Given the description of an element on the screen output the (x, y) to click on. 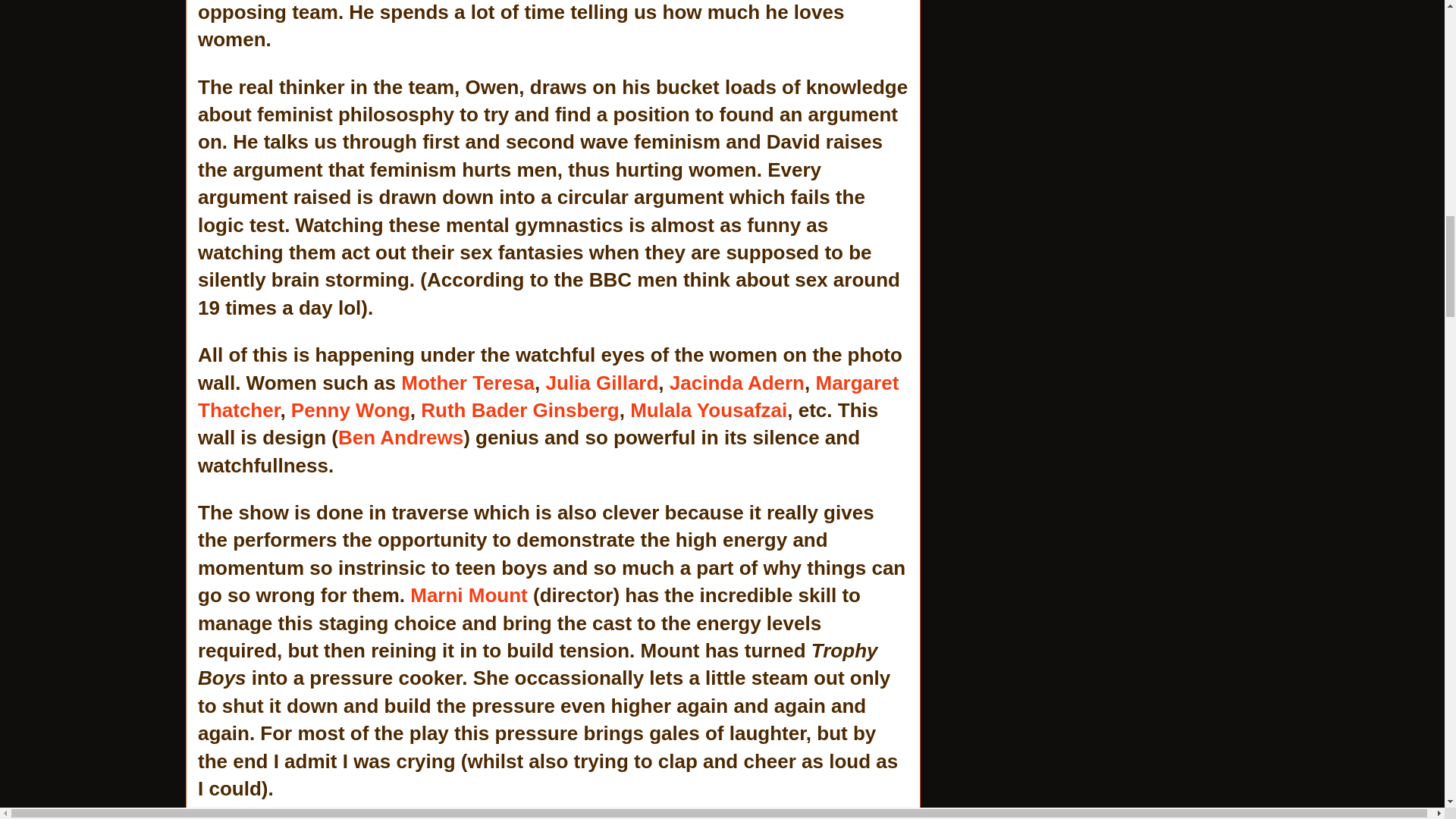
Margaret Thatcher (548, 396)
Jacinda Adern (737, 382)
Julia Gillard (602, 382)
Ruth Bader Ginsberg (519, 409)
Ben Andrews (400, 436)
Penny Wong (350, 409)
Mulala Yousafzai (708, 409)
Marni Mount (468, 594)
Mother Teresa (467, 382)
